Given the description of an element on the screen output the (x, y) to click on. 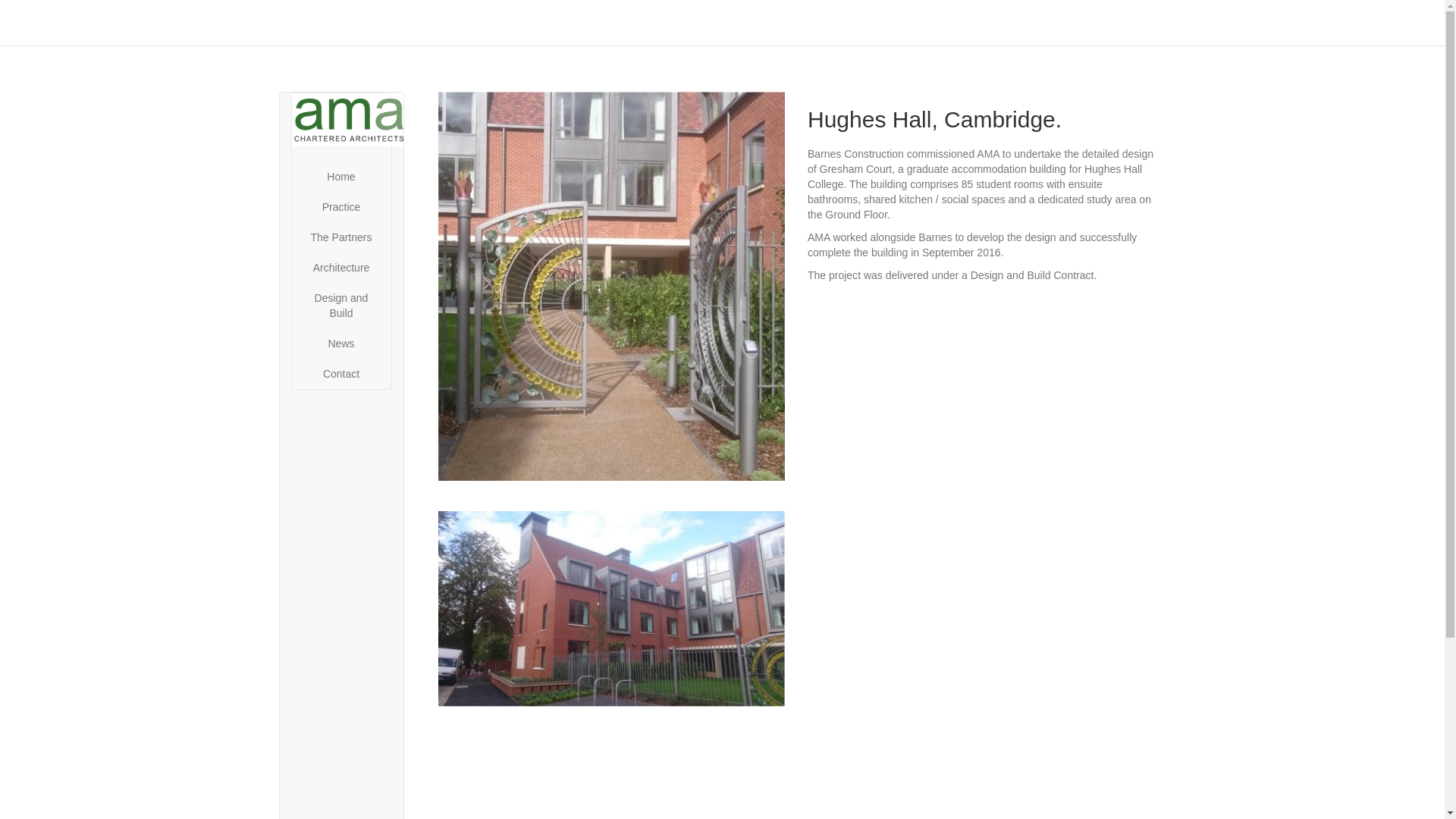
Practice (340, 206)
Home (340, 125)
The Partners (340, 236)
News (340, 343)
Architecture (340, 267)
Contact (340, 373)
Design and Build (340, 305)
Home (340, 176)
